Given the description of an element on the screen output the (x, y) to click on. 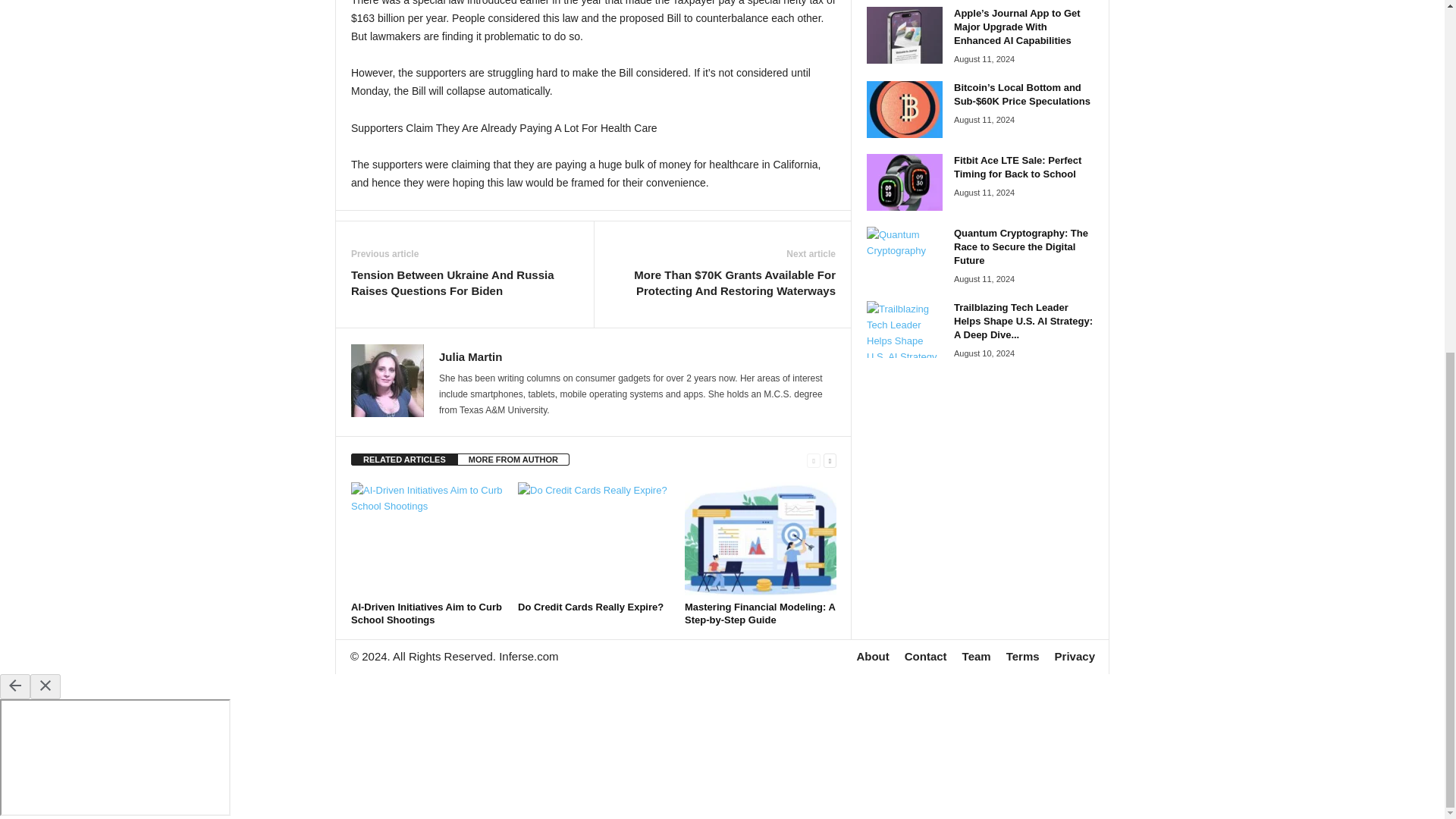
RELATED ARTICLES (404, 459)
Mastering Financial Modeling: A Step-by-Step Guide (759, 539)
AI-Driven Initiatives Aim to Curb School Shootings (426, 613)
Julia Martin (470, 356)
AI-Driven Initiatives Aim to Curb School Shootings (426, 539)
MORE FROM AUTHOR (513, 459)
Mastering Financial Modeling: A Step-by-Step Guide (759, 613)
